Given the description of an element on the screen output the (x, y) to click on. 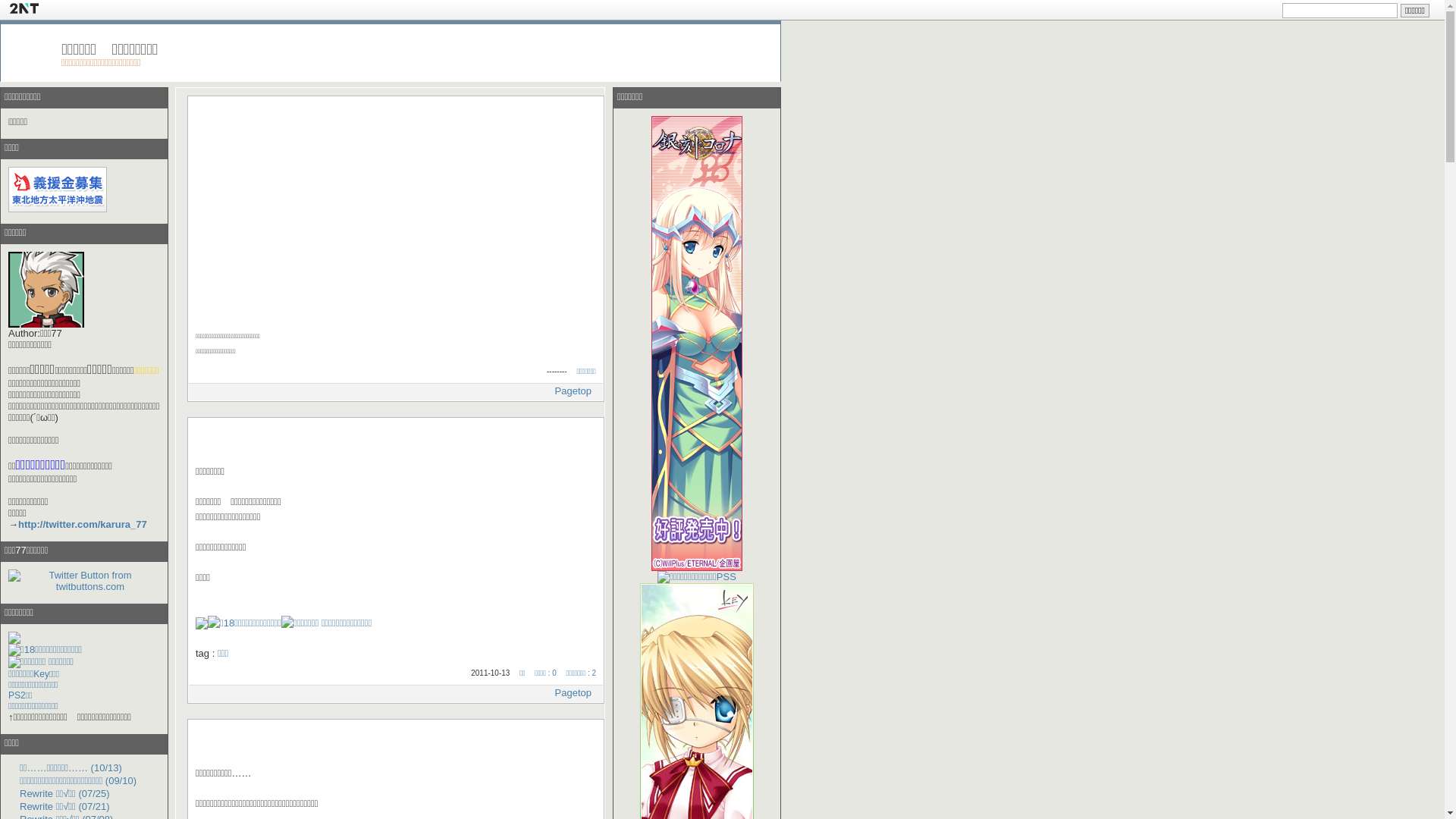
Pagetop Element type: text (573, 390)
http://twitter.com/karura_77 Element type: text (82, 524)
Pagetop Element type: text (573, 692)
